Given the description of an element on the screen output the (x, y) to click on. 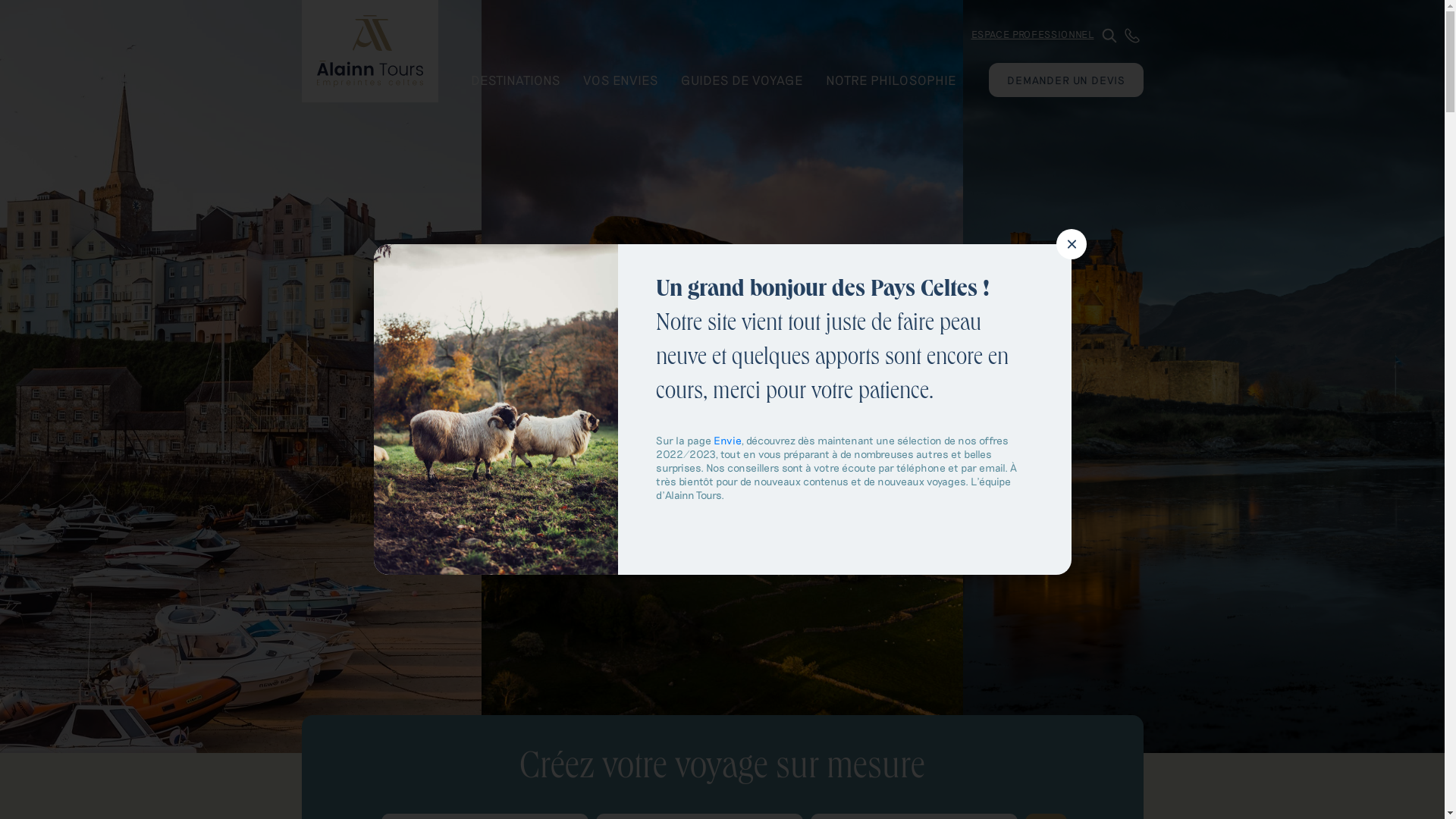
VOS ENVIES Element type: text (620, 79)
GUIDES DE VOYAGE Element type: text (740, 79)
ESPACE PROFESSIONNEL Element type: text (1032, 33)
OK Element type: text (900, 409)
DEMANDER UN DEVIS Element type: text (1065, 79)
Envie Element type: text (726, 439)
